Given the description of an element on the screen output the (x, y) to click on. 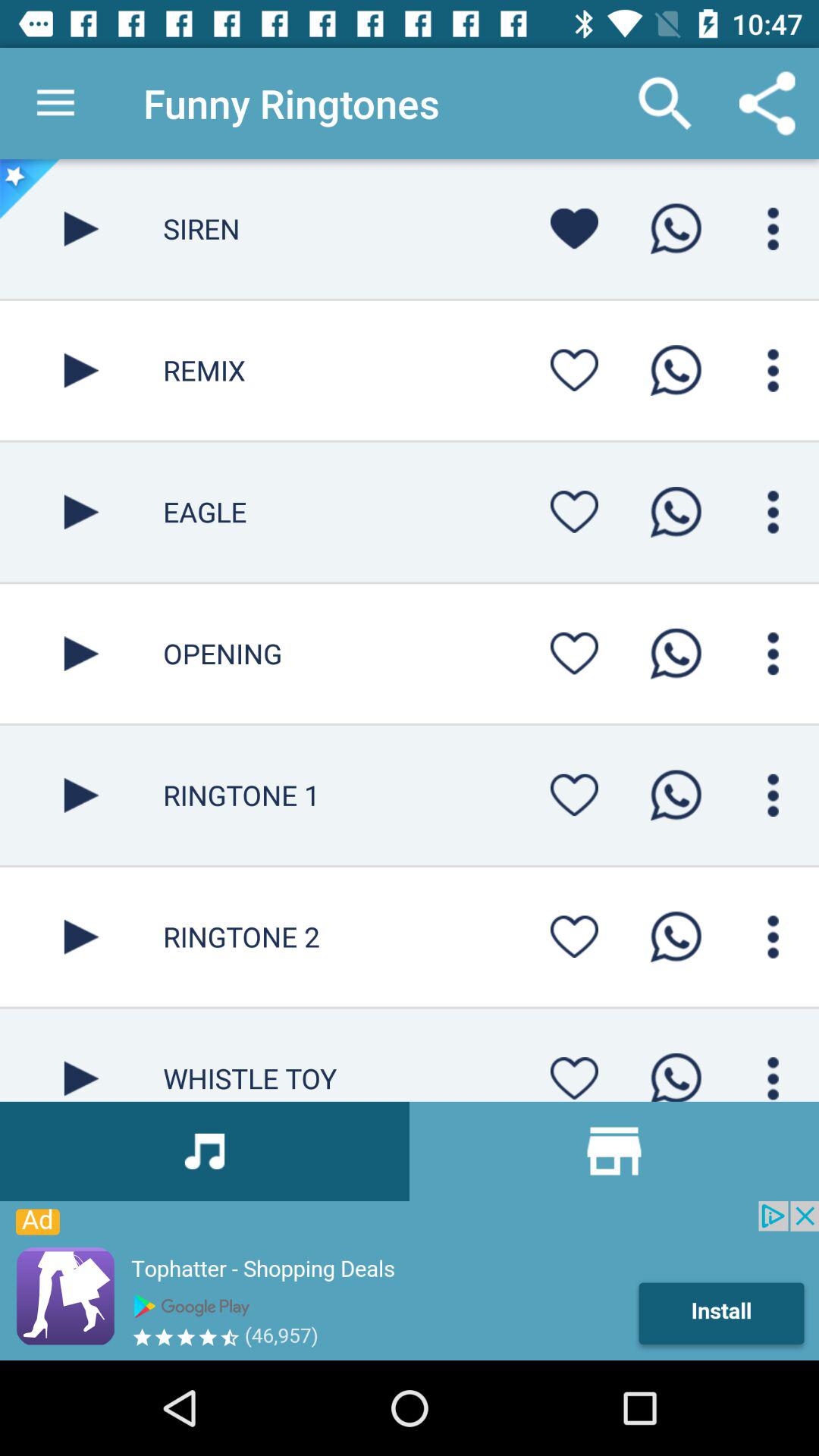
play button (81, 228)
